Given the description of an element on the screen output the (x, y) to click on. 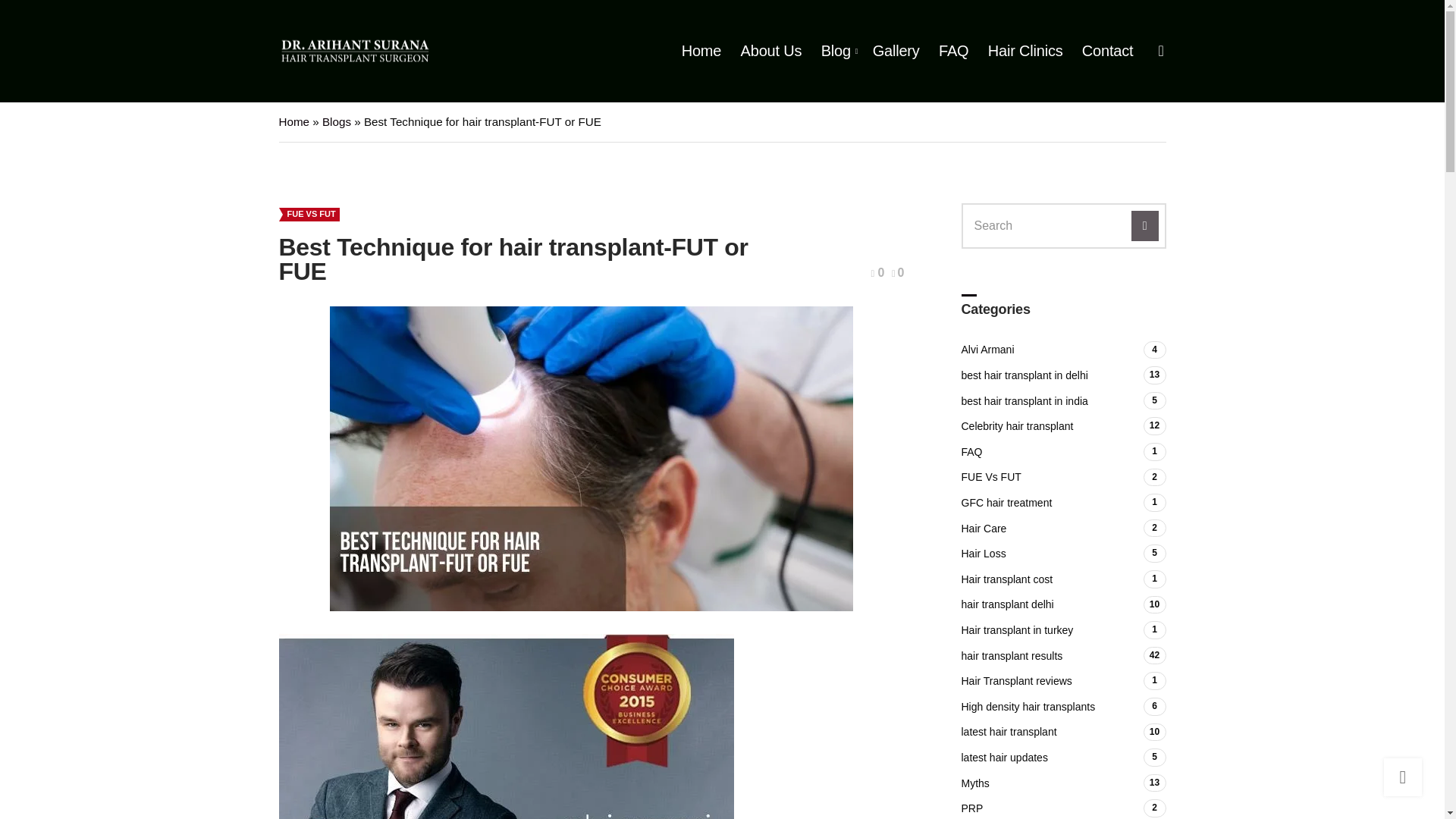
Gallery (896, 51)
Love this. (897, 272)
Home (701, 51)
Contact (1107, 51)
0 (897, 272)
Hair Clinics (1025, 51)
About Us (771, 51)
Blog (837, 51)
Blogs (335, 121)
0 (878, 272)
FUE VS FUT (312, 214)
FAQ (953, 51)
Home (294, 121)
